Given the description of an element on the screen output the (x, y) to click on. 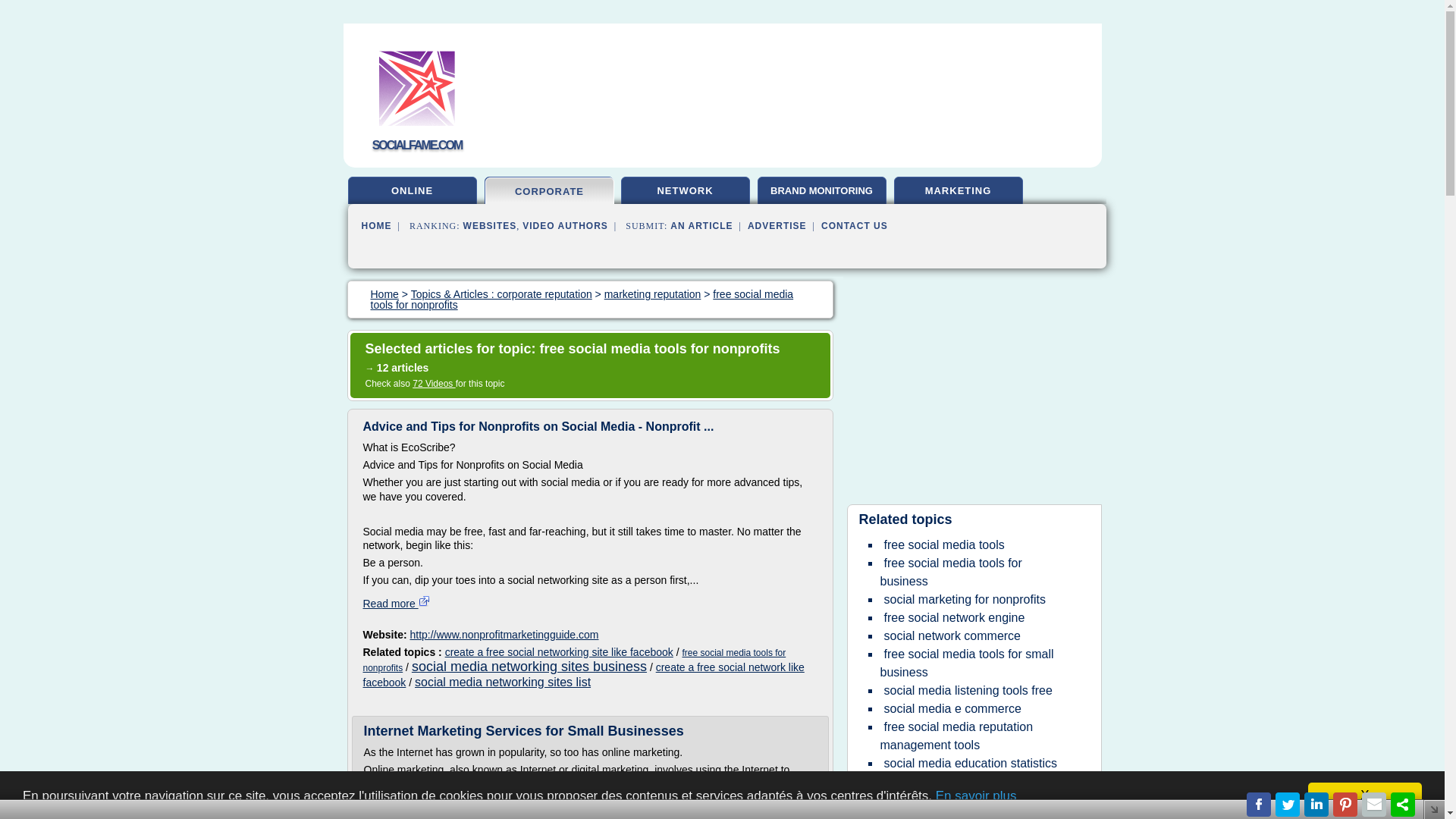
free social media tools (943, 544)
social media listening tools free (967, 690)
VIDEO AUTHORS (565, 225)
free social media tools for nonprofits (581, 299)
Home (383, 293)
SOCIALFAME.COM (417, 144)
social and non profit marketing (965, 799)
social media education conference (943, 813)
social media e commerce (952, 708)
social marketing for nonprofits (963, 598)
AN ARTICLE (700, 225)
Read more (395, 603)
NETWORK (685, 192)
HOME (376, 225)
CONTACT US (854, 225)
